Given the description of an element on the screen output the (x, y) to click on. 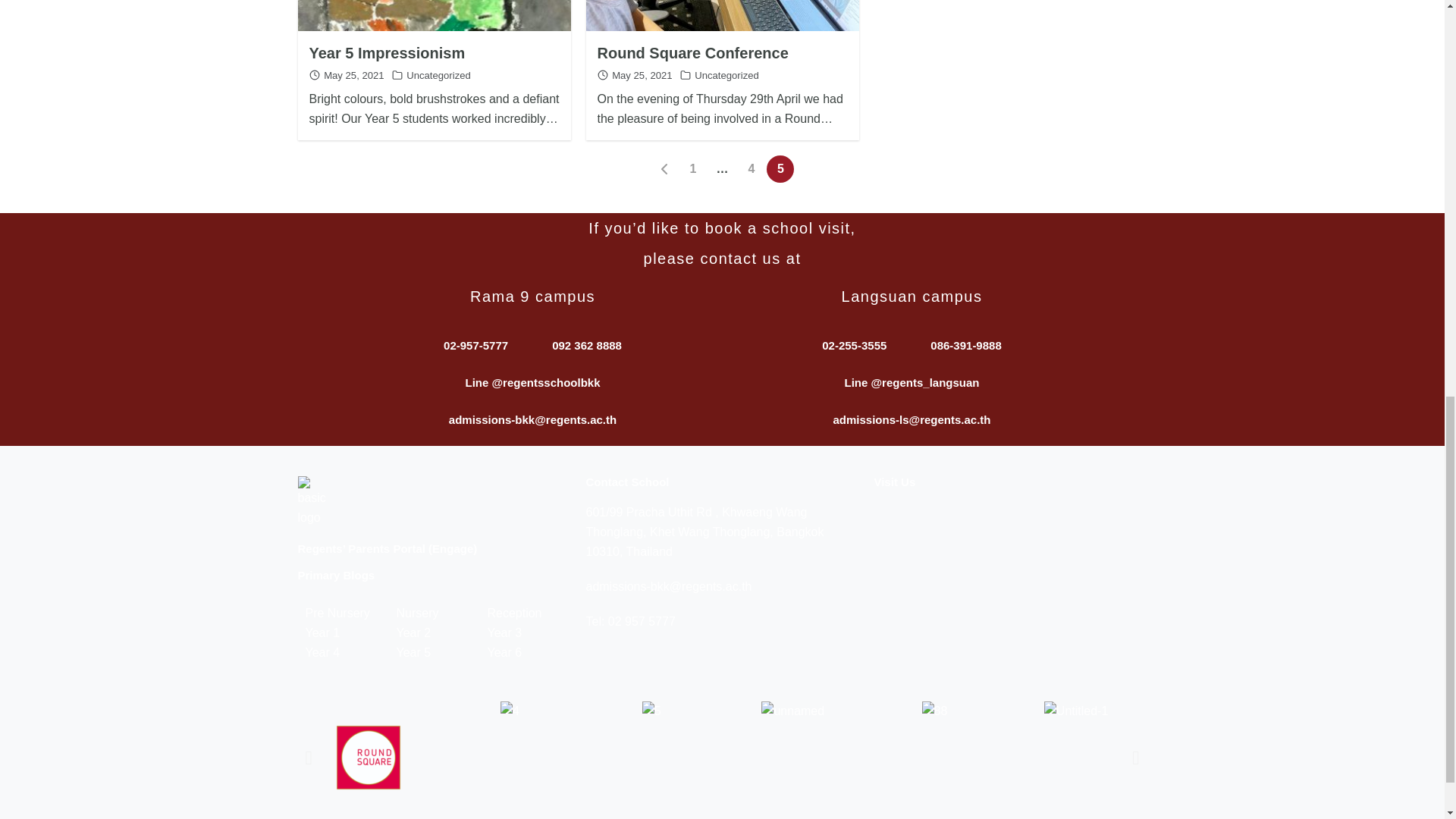
Google Maps (1010, 585)
